Given the description of an element on the screen output the (x, y) to click on. 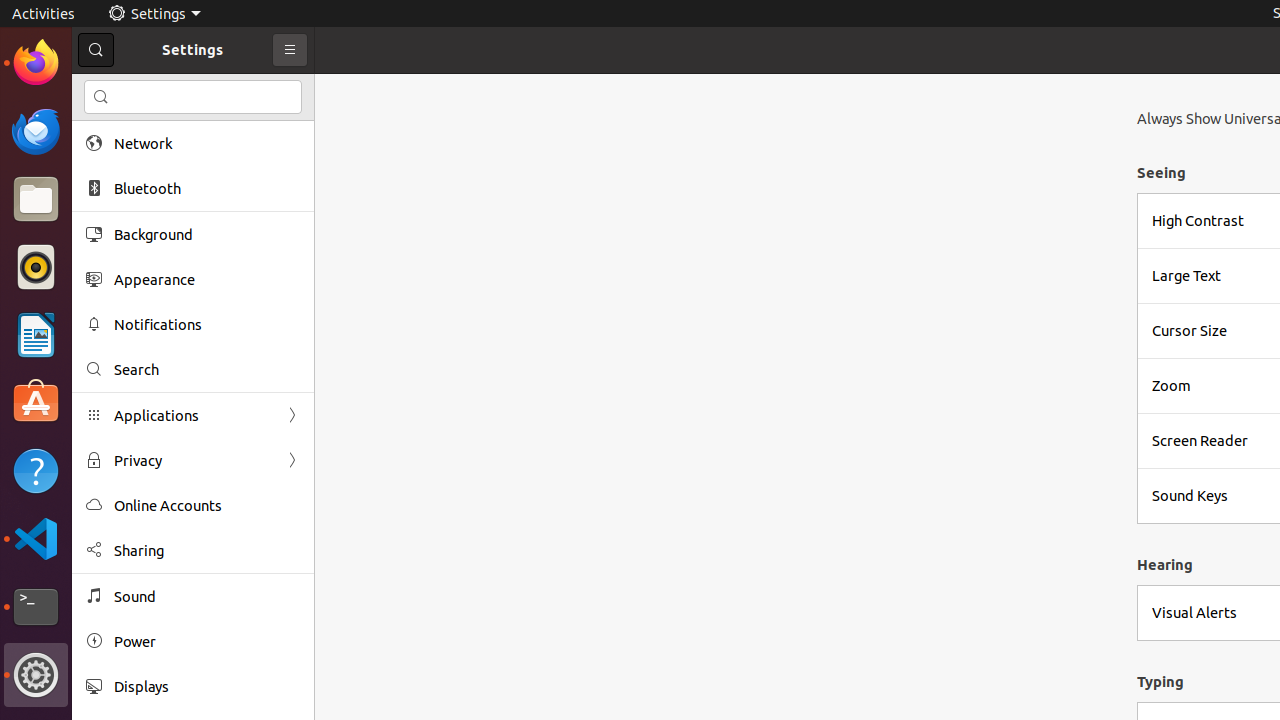
Firefox Web Browser Element type: push-button (36, 63)
Search Element type: text (193, 97)
Bluetooth Element type: label (207, 188)
Settings Element type: push-button (36, 675)
Sound Element type: label (207, 596)
